Given the description of an element on the screen output the (x, y) to click on. 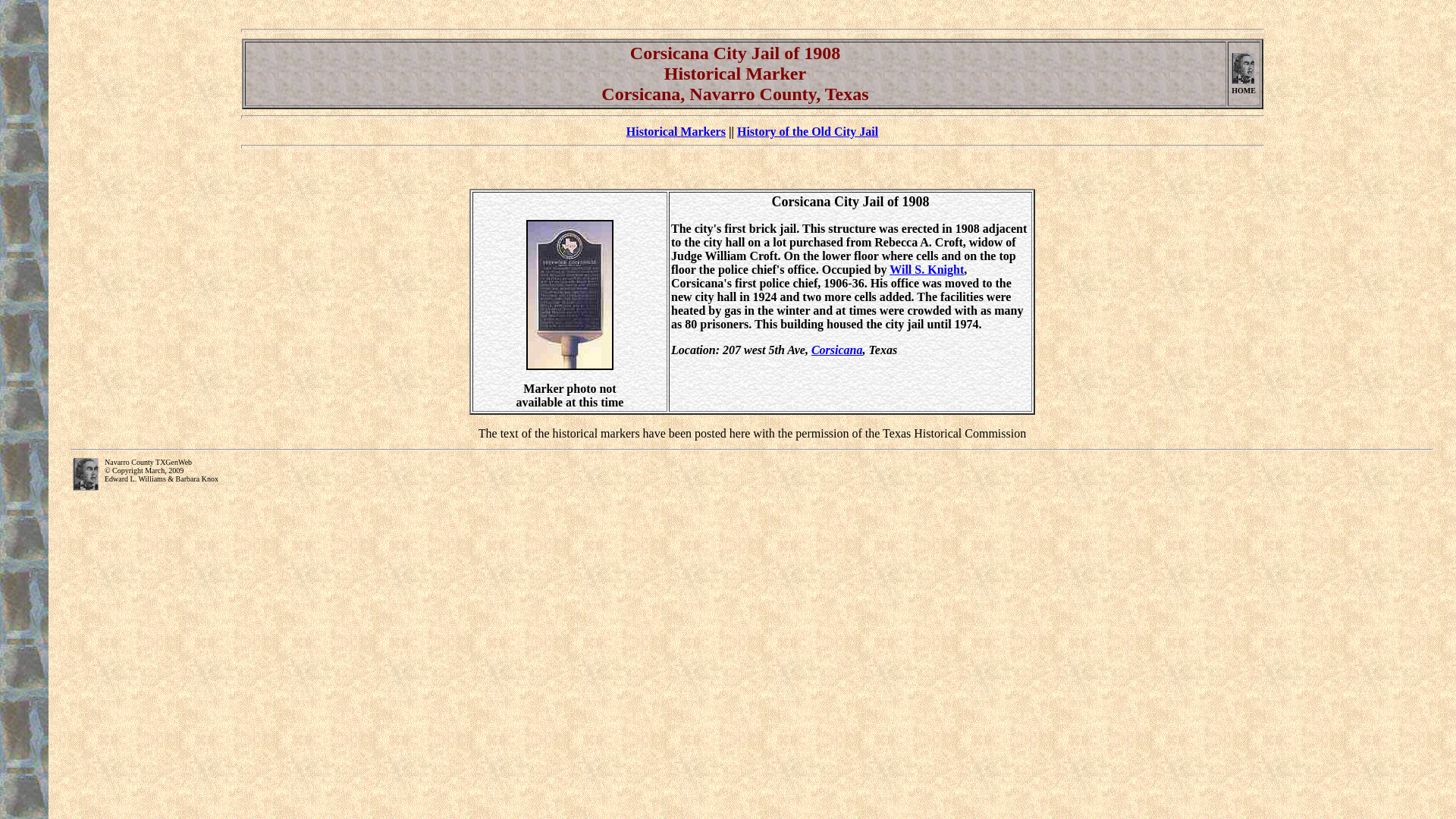
Corsicana (836, 349)
Historical Markers (675, 131)
History of the Old City Jail (806, 131)
Will S. Knight (926, 269)
